Given the description of an element on the screen output the (x, y) to click on. 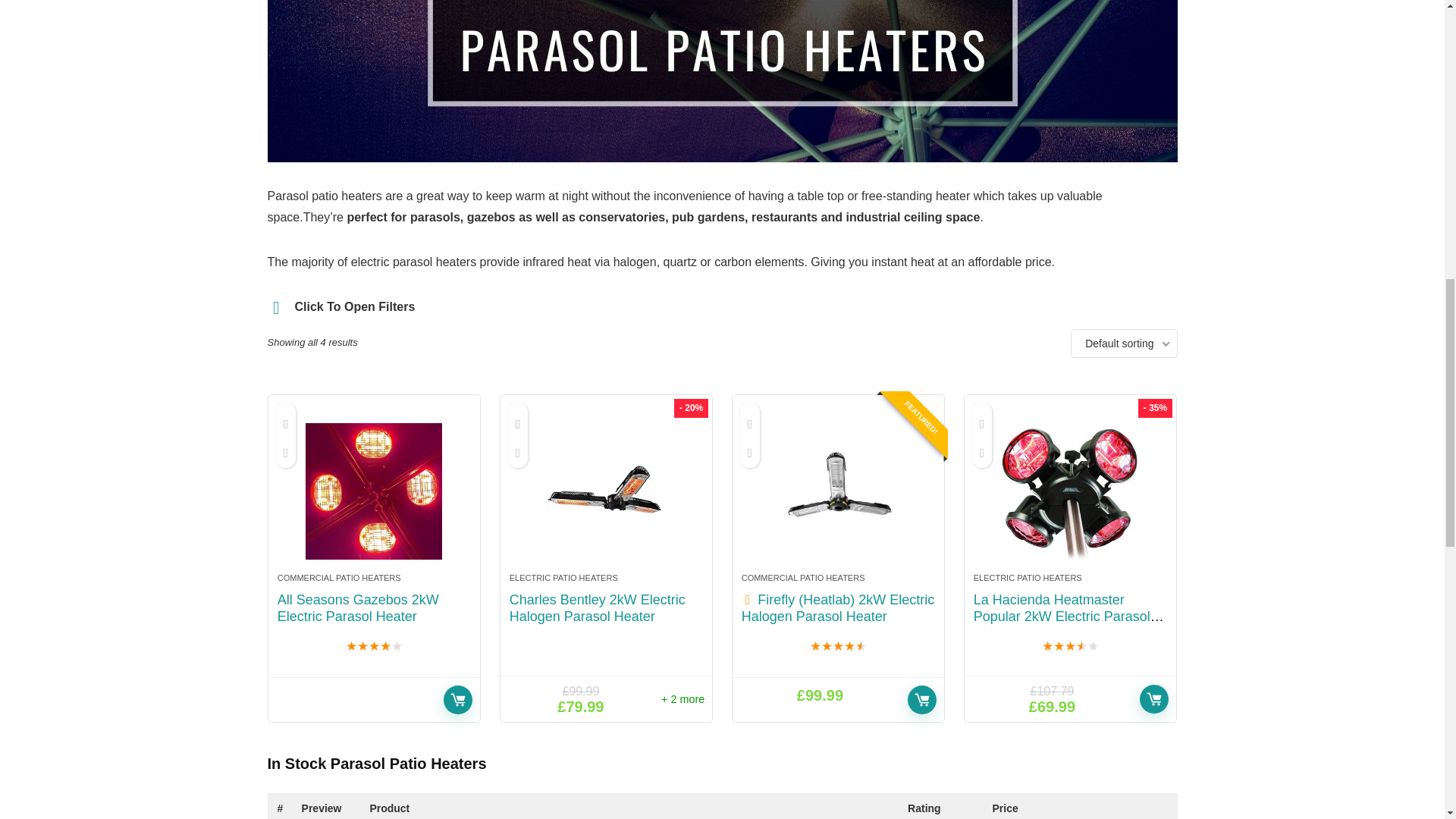
Click To Open Filters (721, 312)
Rated 8.6 out of 10 (374, 646)
La Hacienda Heatmaster Popular 2kW Electric Parasol Heater (1070, 491)
Charles Bentley 2kW Electric Halogen Parasol Heater (606, 491)
Rated 9.1 out of 10 (838, 646)
All Seasons Gazebos 2kW Electric Parasol Heater (374, 491)
Rated 7 out of 10 (1070, 646)
